Given the description of an element on the screen output the (x, y) to click on. 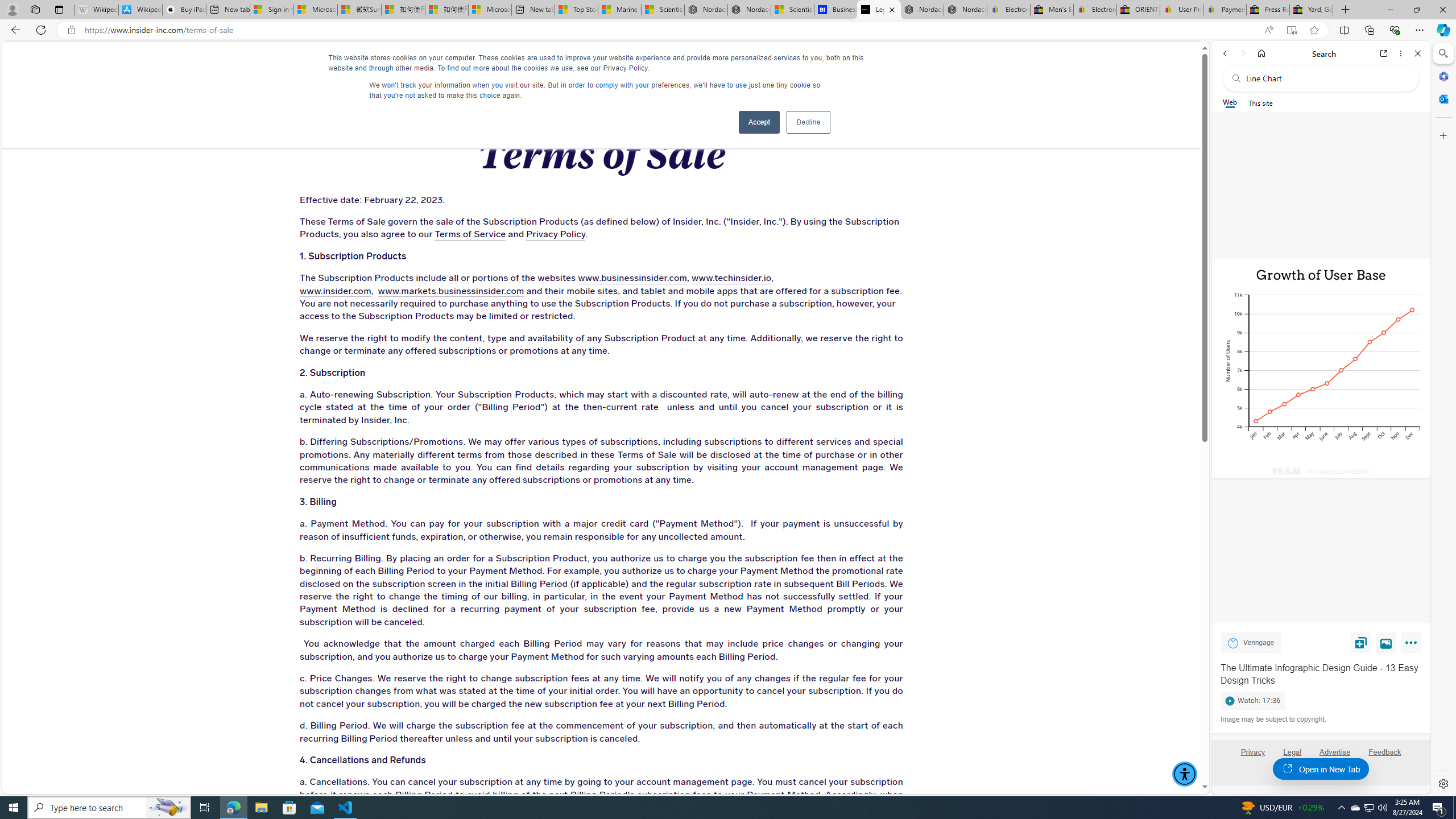
WHO WE ARE (347, 62)
Accept (759, 121)
